Given the description of an element on the screen output the (x, y) to click on. 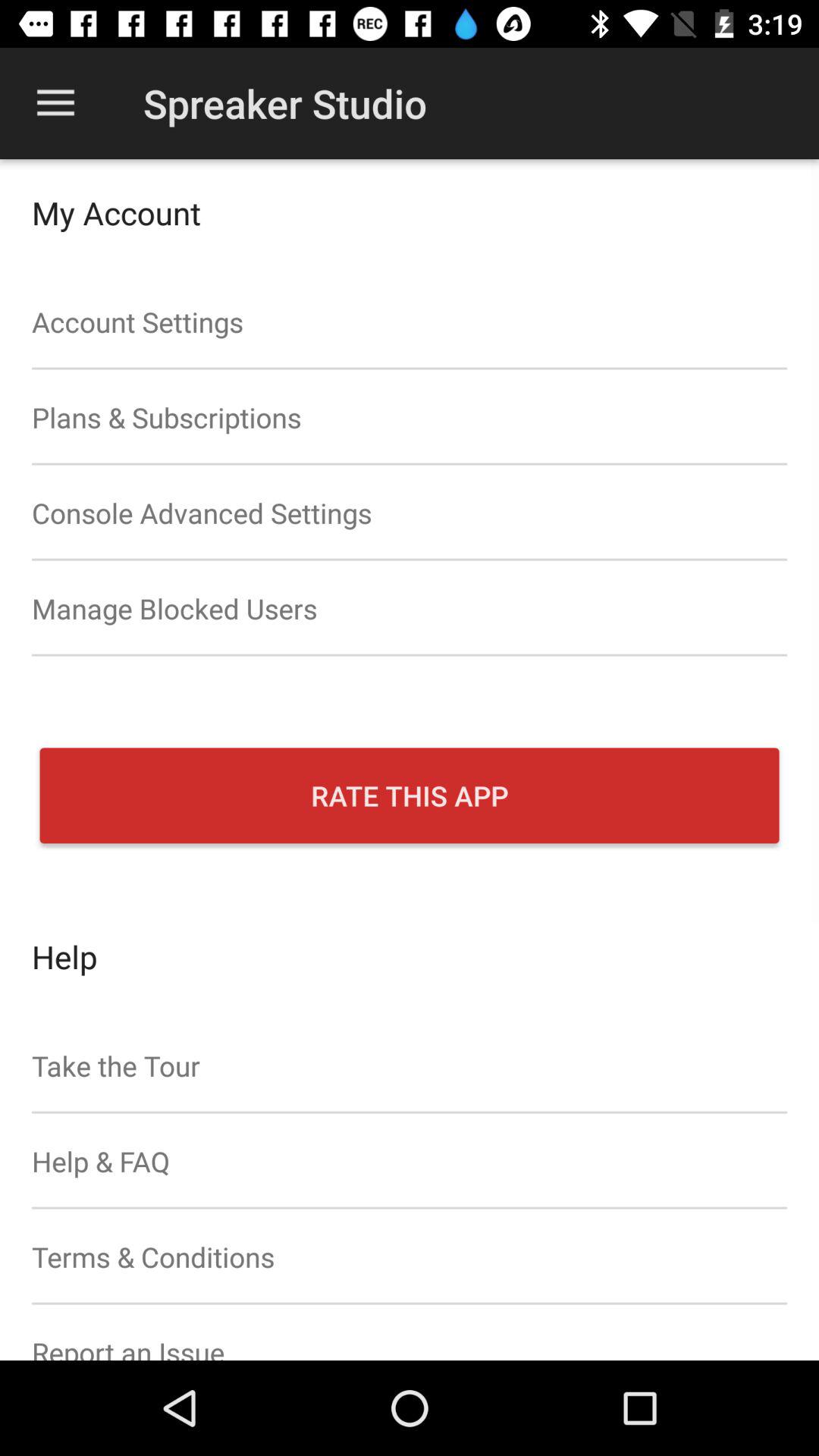
choose help & faq item (409, 1161)
